Given the description of an element on the screen output the (x, y) to click on. 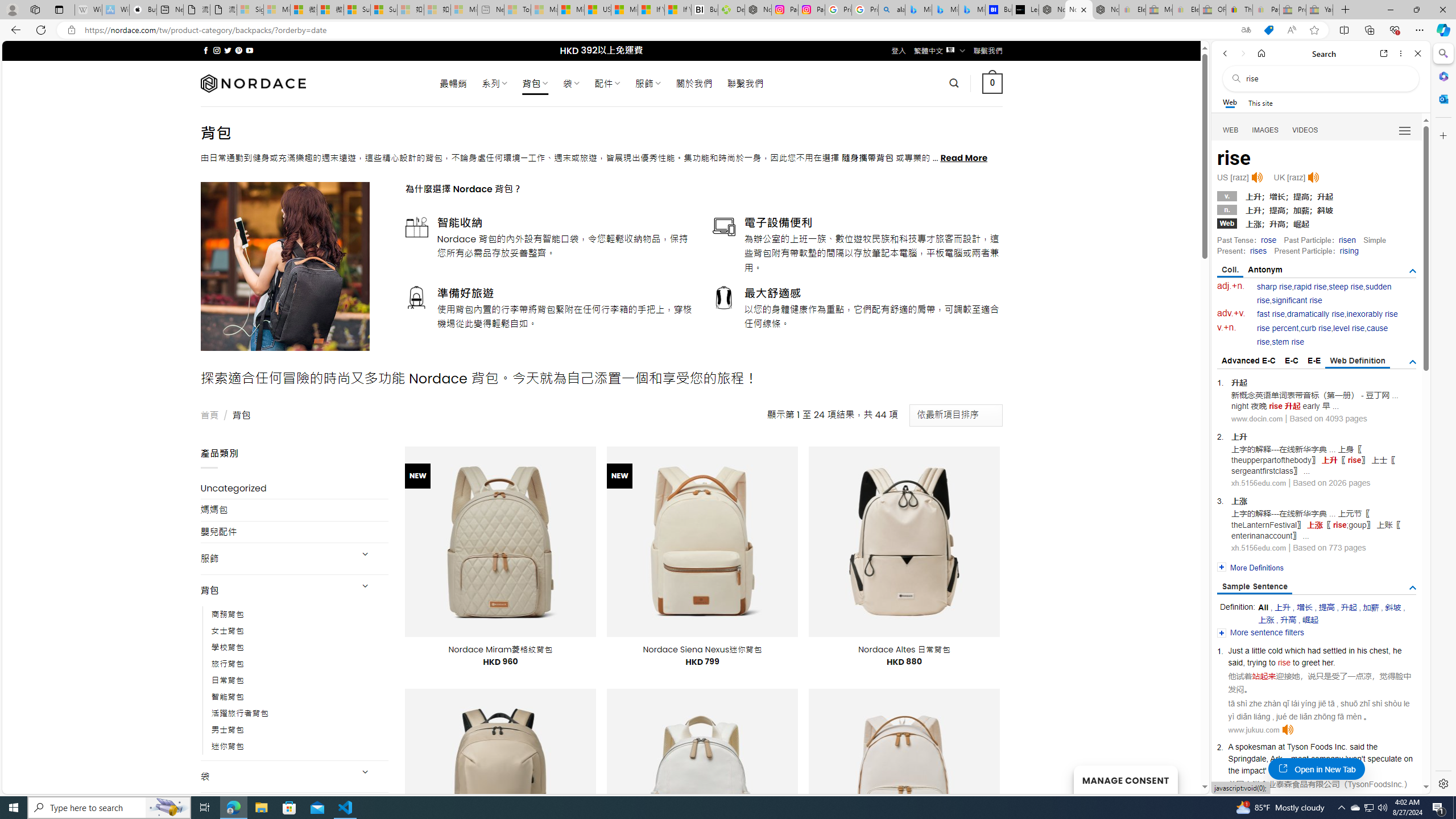
Follow on Facebook (205, 50)
inexorably rise (1371, 313)
level rise (1349, 328)
had (1313, 650)
Yard, Garden & Outdoor Living - Sleeping (1319, 9)
significant rise (1296, 300)
trying (1256, 662)
